Given the description of an element on the screen output the (x, y) to click on. 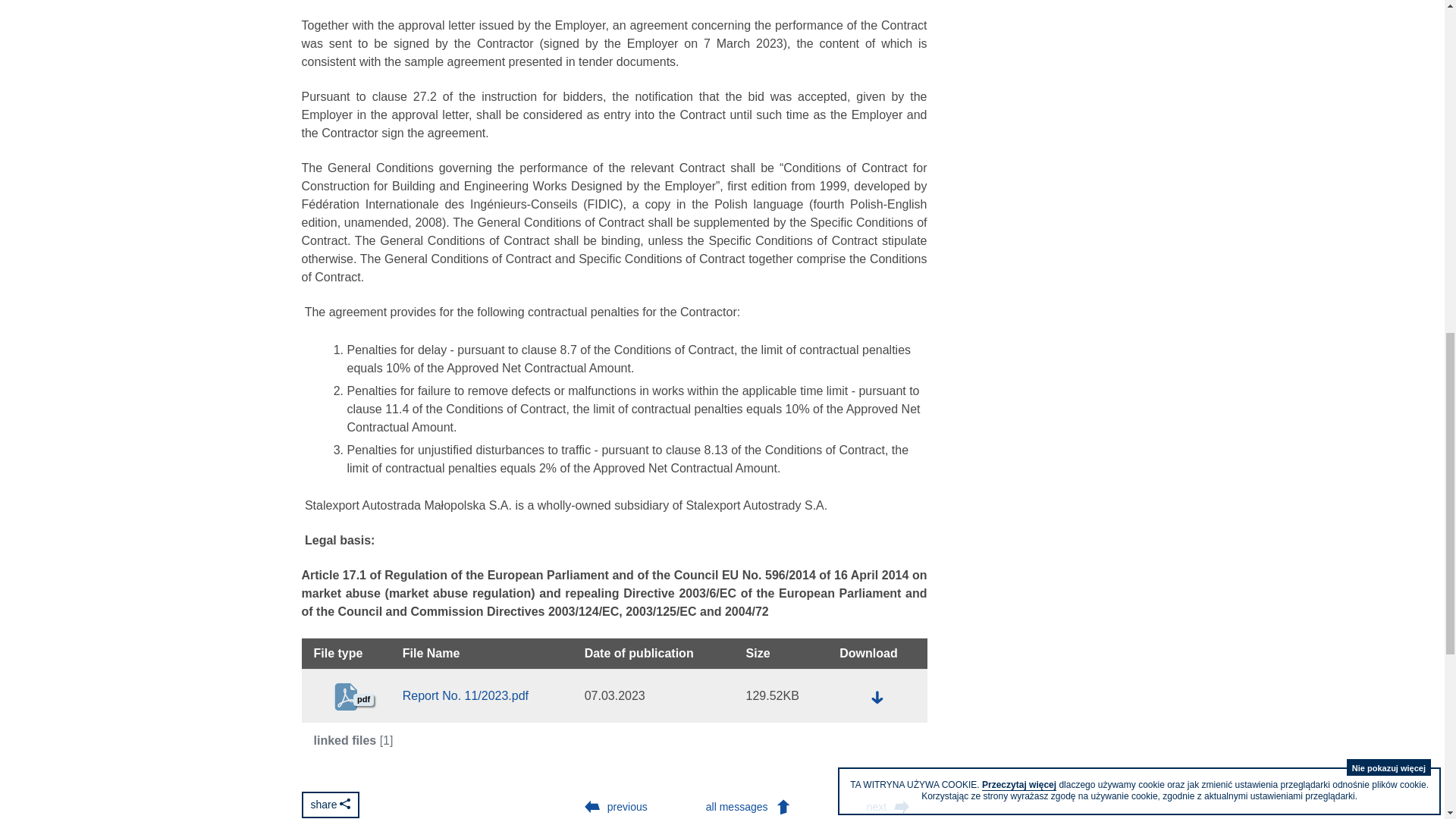
share (330, 804)
previous (612, 805)
File type: pdf, Size: 129.52KB (877, 697)
all messages (752, 805)
next (892, 805)
list all messages (752, 805)
